Given the description of an element on the screen output the (x, y) to click on. 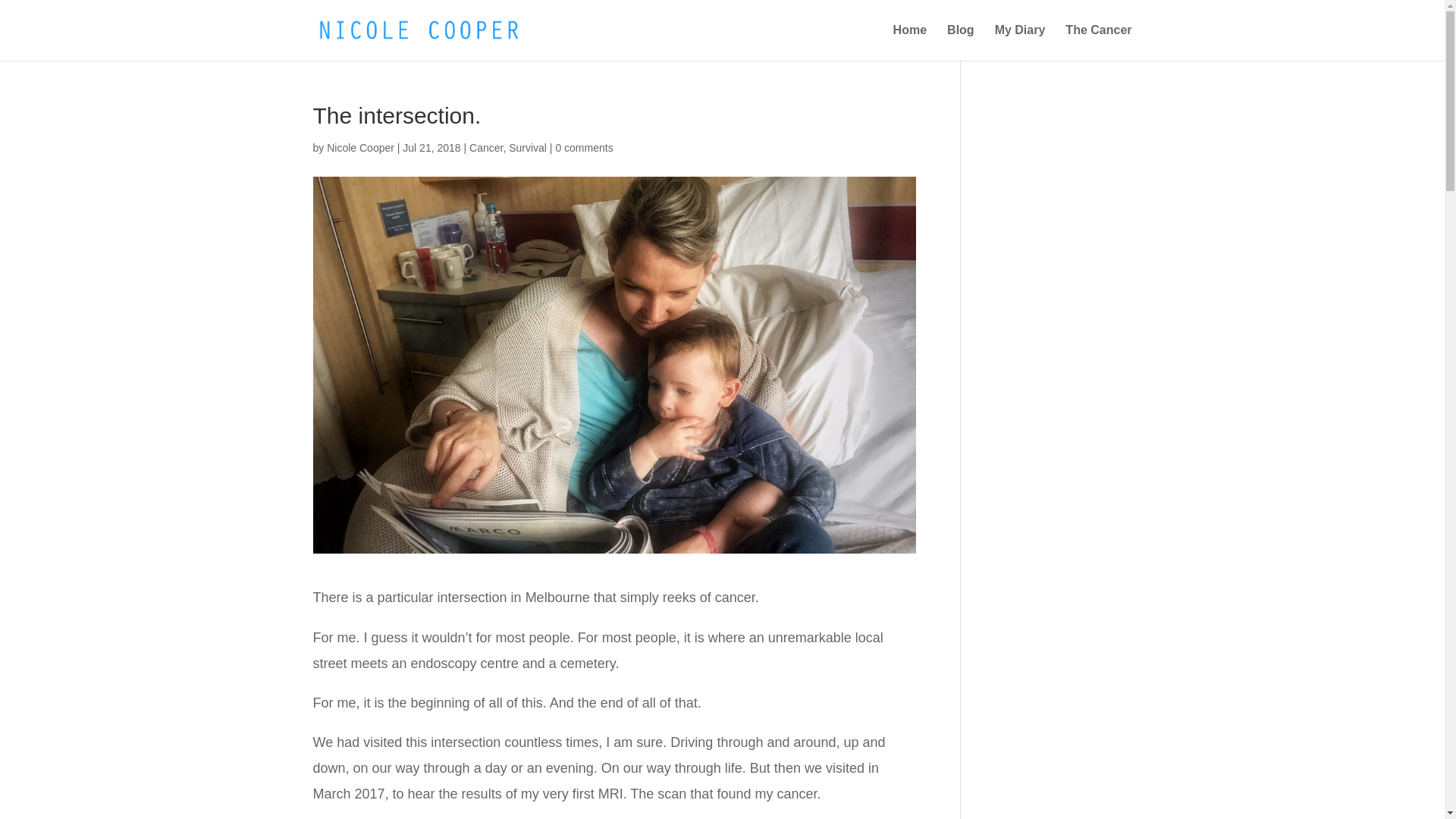
Nicole Cooper Element type: text (360, 147)
Home Element type: text (909, 42)
Cancer Element type: text (485, 147)
Blog Element type: text (960, 42)
Survival Element type: text (527, 147)
The Cancer Element type: text (1098, 42)
My Diary Element type: text (1019, 42)
0 comments Element type: text (583, 147)
